Given the description of an element on the screen output the (x, y) to click on. 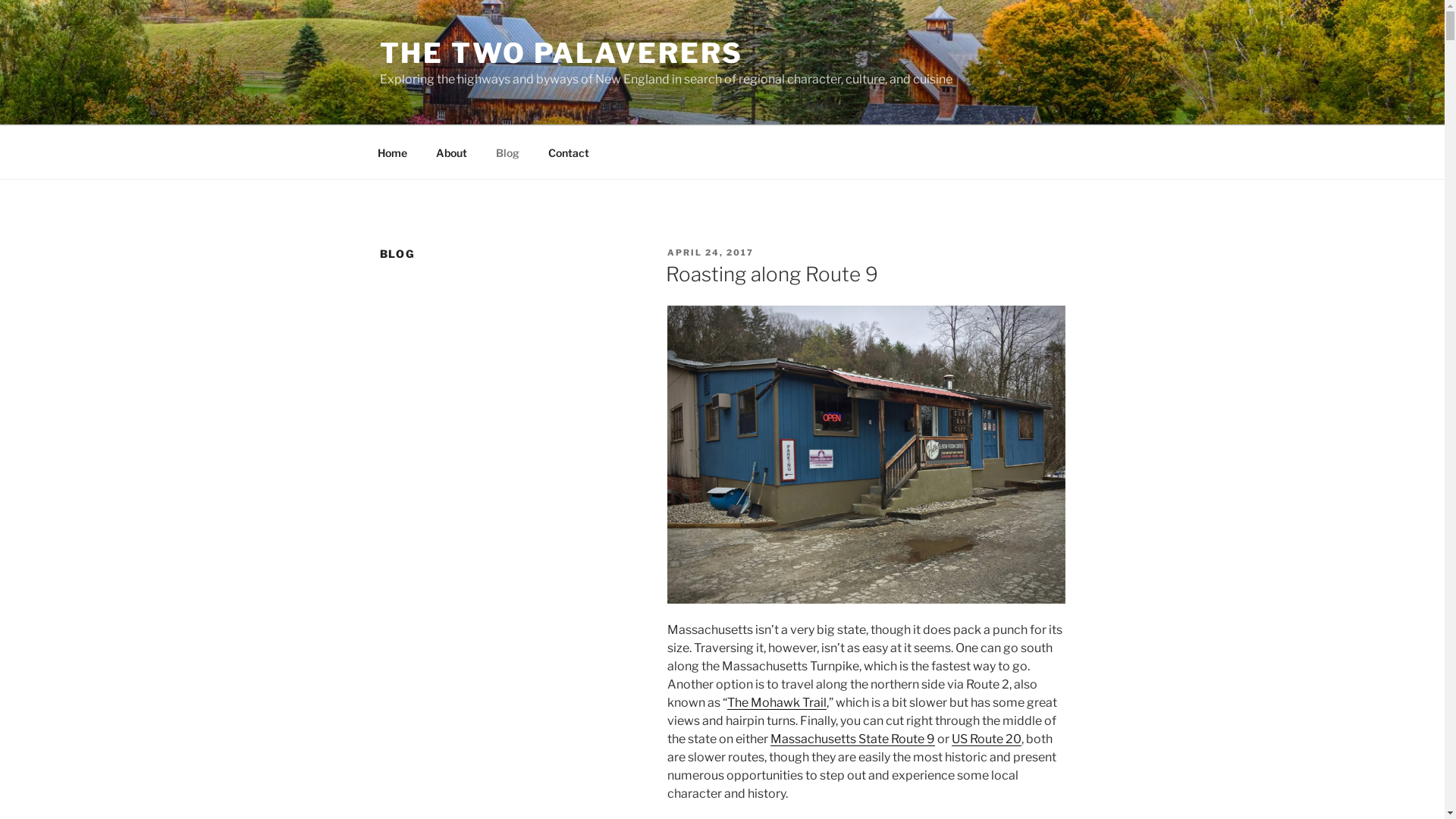
The Mohawk Trail Element type: text (776, 702)
Roasting along Route 9 Element type: text (771, 273)
Massachusetts State Route 9 Element type: text (852, 738)
Blog Element type: text (507, 151)
Contact Element type: text (568, 151)
About Element type: text (451, 151)
US Route 20 Element type: text (986, 738)
APRIL 24, 2017 Element type: text (710, 252)
Home Element type: text (392, 151)
THE TWO PALAVERERS Element type: text (561, 52)
